Given the description of an element on the screen output the (x, y) to click on. 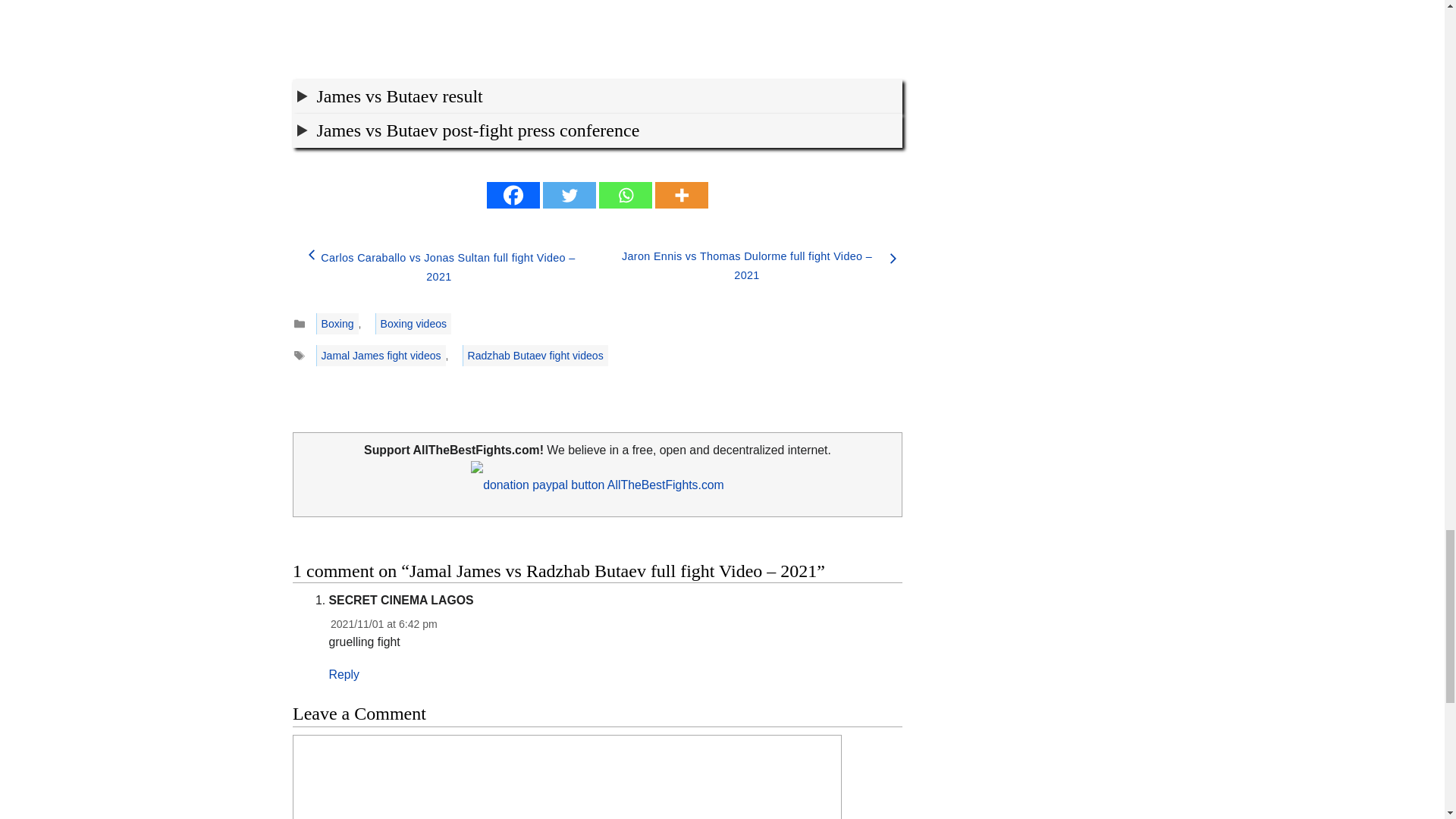
Jamal James fight videos (380, 355)
Boxing (336, 323)
Boxing videos (412, 323)
Reply (344, 674)
Radzhab Butaev fight videos (535, 355)
